Given the description of an element on the screen output the (x, y) to click on. 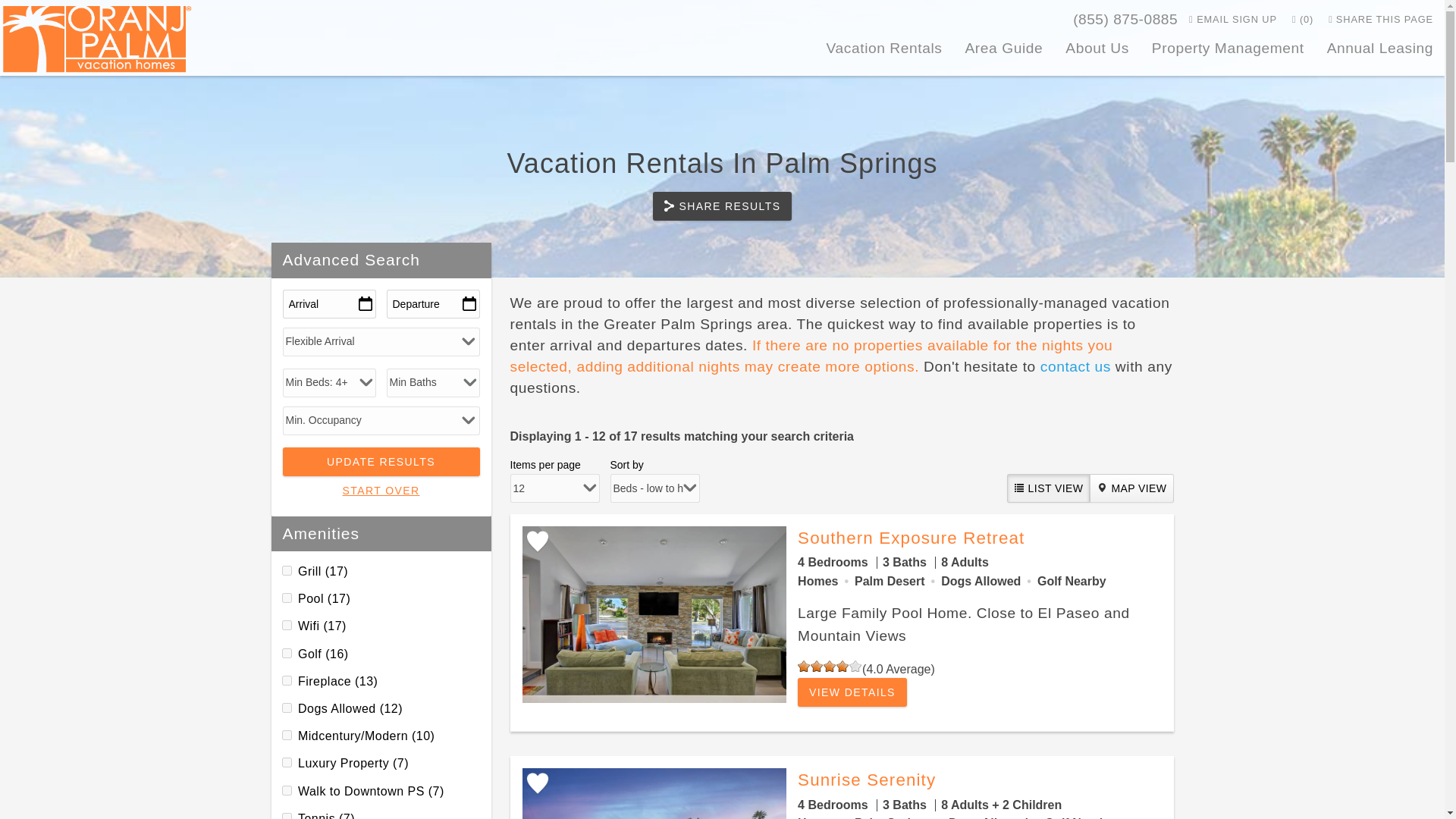
 Add Favorite (536, 783)
on (287, 790)
on (287, 735)
Home (97, 34)
on (287, 624)
Area Guide (1003, 49)
 Add Favorite (536, 541)
on (287, 816)
